Given the description of an element on the screen output the (x, y) to click on. 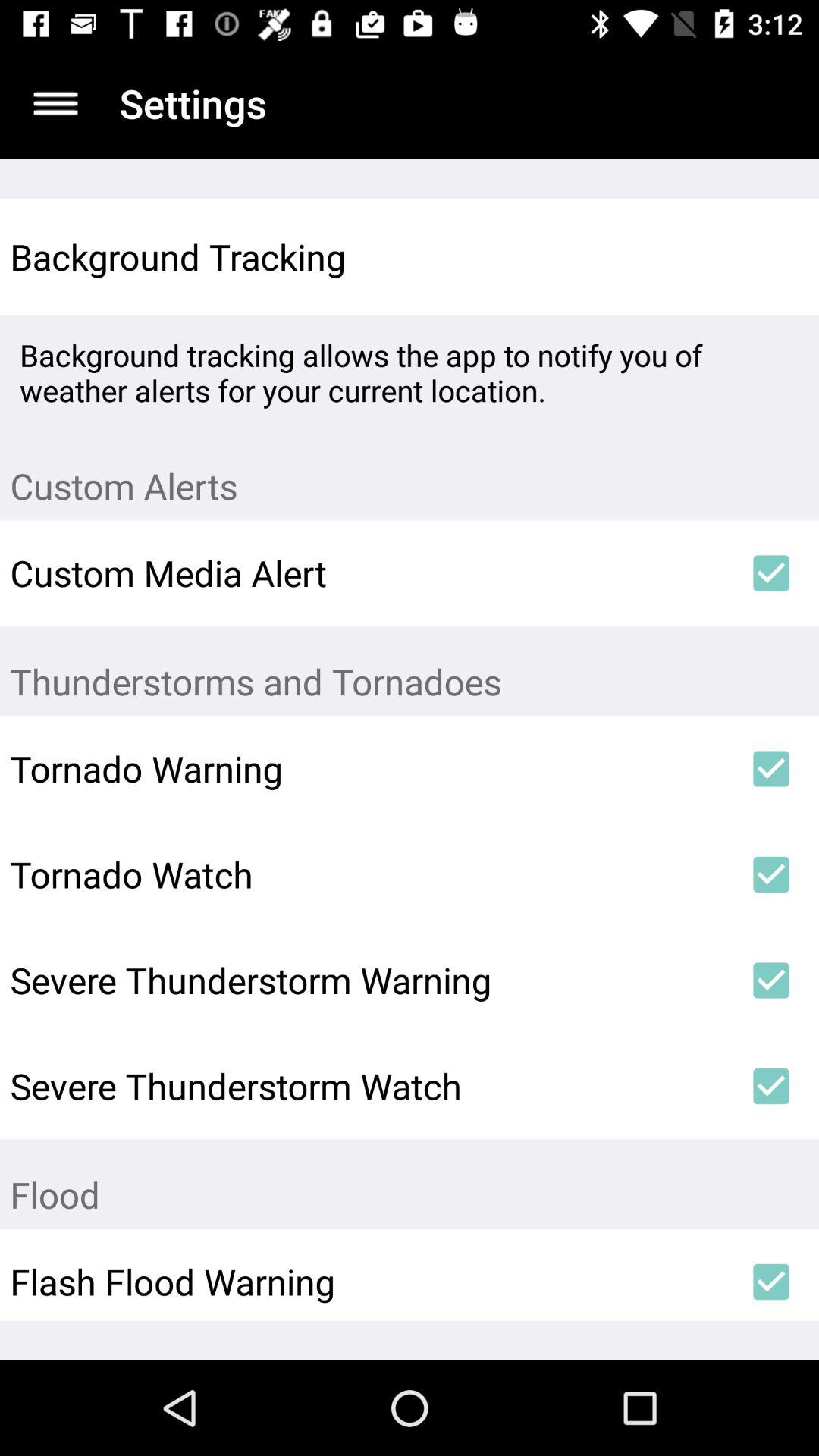
turn on icon to the right of severe thunderstorm watch (771, 1086)
